Given the description of an element on the screen output the (x, y) to click on. 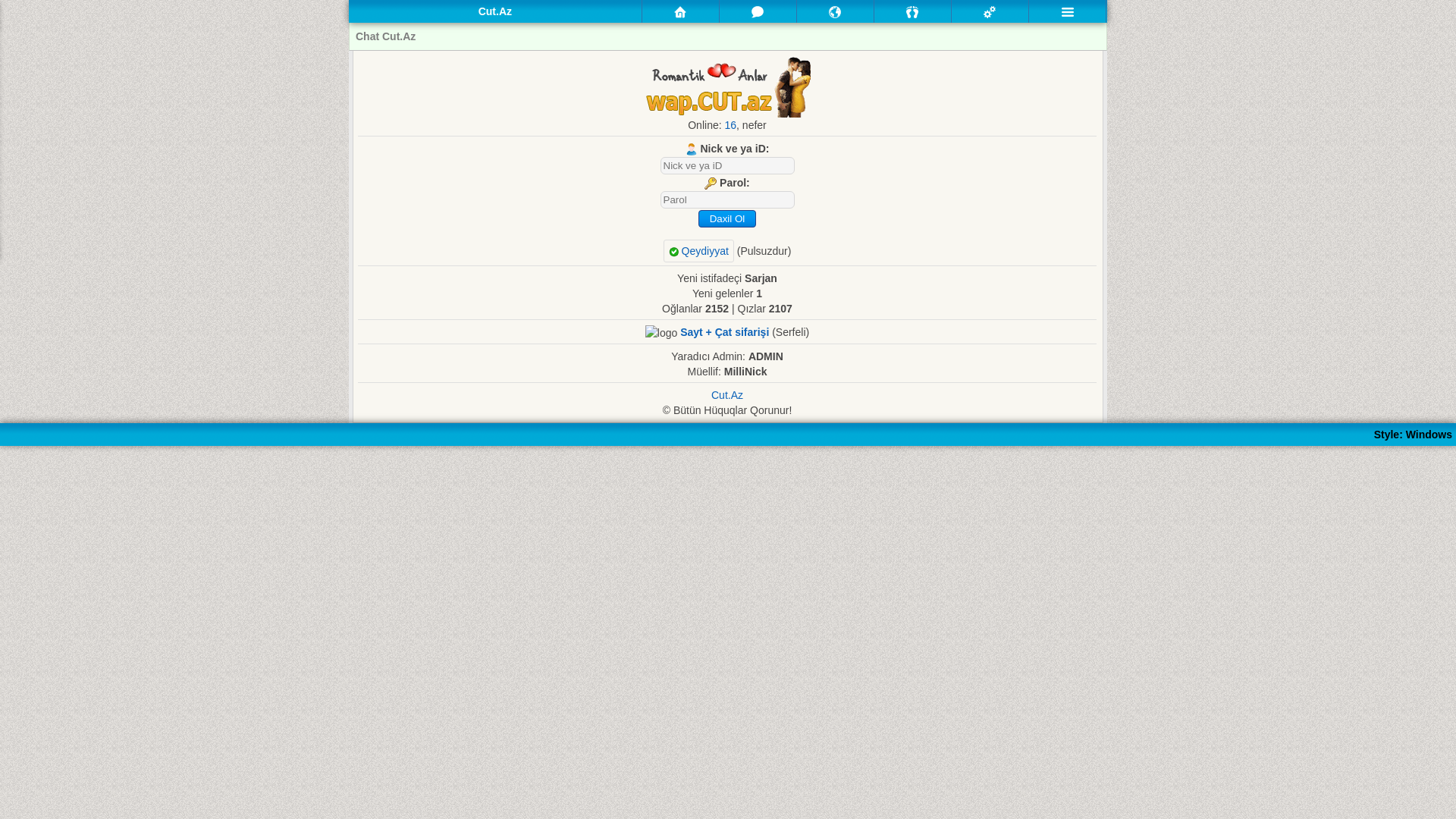
Mektublar Element type: hover (835, 11)
Mesajlar Element type: hover (757, 12)
Qonaqlar Element type: hover (912, 11)
Mektublar Element type: hover (834, 12)
Parol Element type: hover (726, 199)
nick Element type: hover (726, 165)
Mesajlar Element type: hover (757, 11)
16 Element type: text (730, 125)
Qonaqlar Element type: hover (912, 12)
Ana Sehife Element type: hover (680, 12)
Ana Sehife Element type: hover (680, 11)
Style: Windows Element type: text (1413, 434)
Qeydiyyat Element type: text (698, 250)
Daxil Ol Element type: text (726, 218)
Cut.Az Element type: text (727, 395)
